Given the description of an element on the screen output the (x, y) to click on. 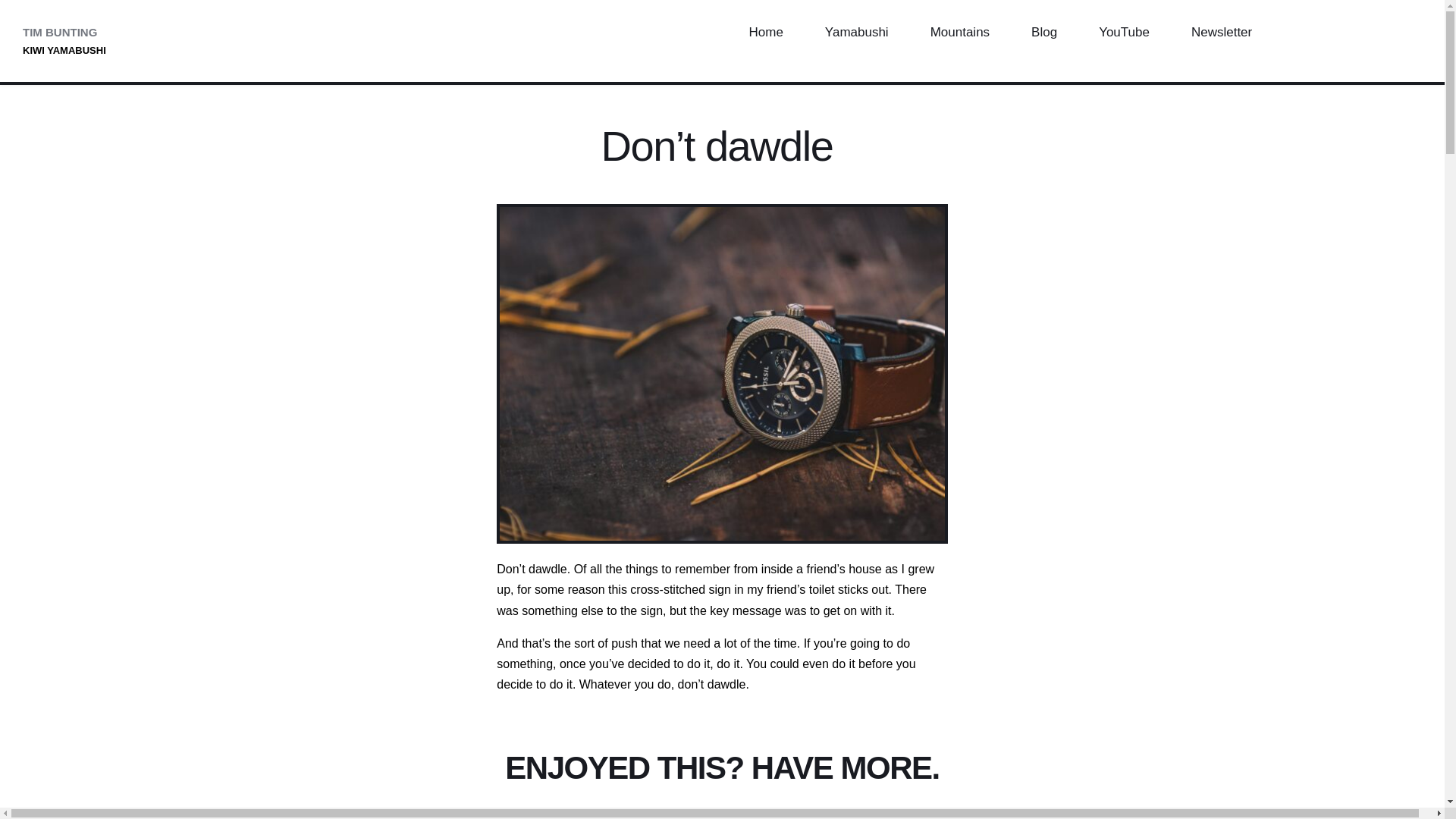
Home (765, 32)
Mountains (959, 32)
Blog (1044, 32)
YouTube (1123, 32)
Yamabushi (856, 32)
Newsletter (1221, 32)
